Given the description of an element on the screen output the (x, y) to click on. 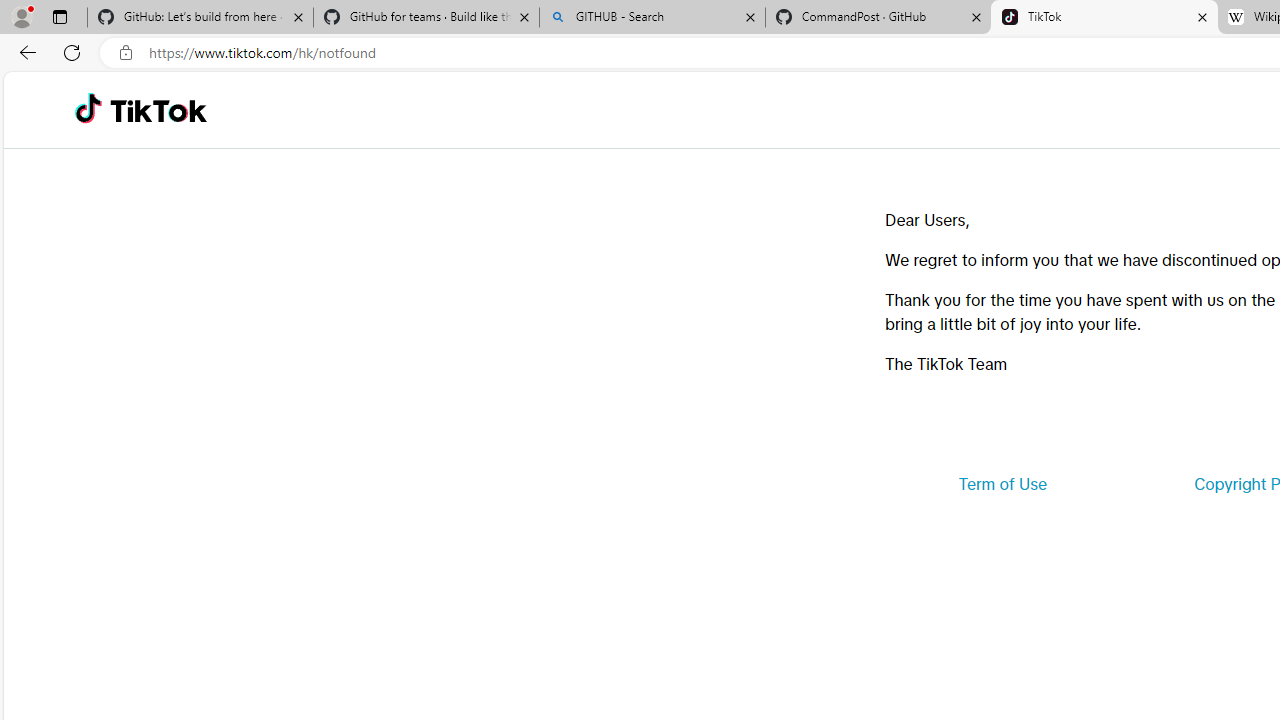
GITHUB - Search (652, 17)
Term of Use (1002, 484)
